Given the description of an element on the screen output the (x, y) to click on. 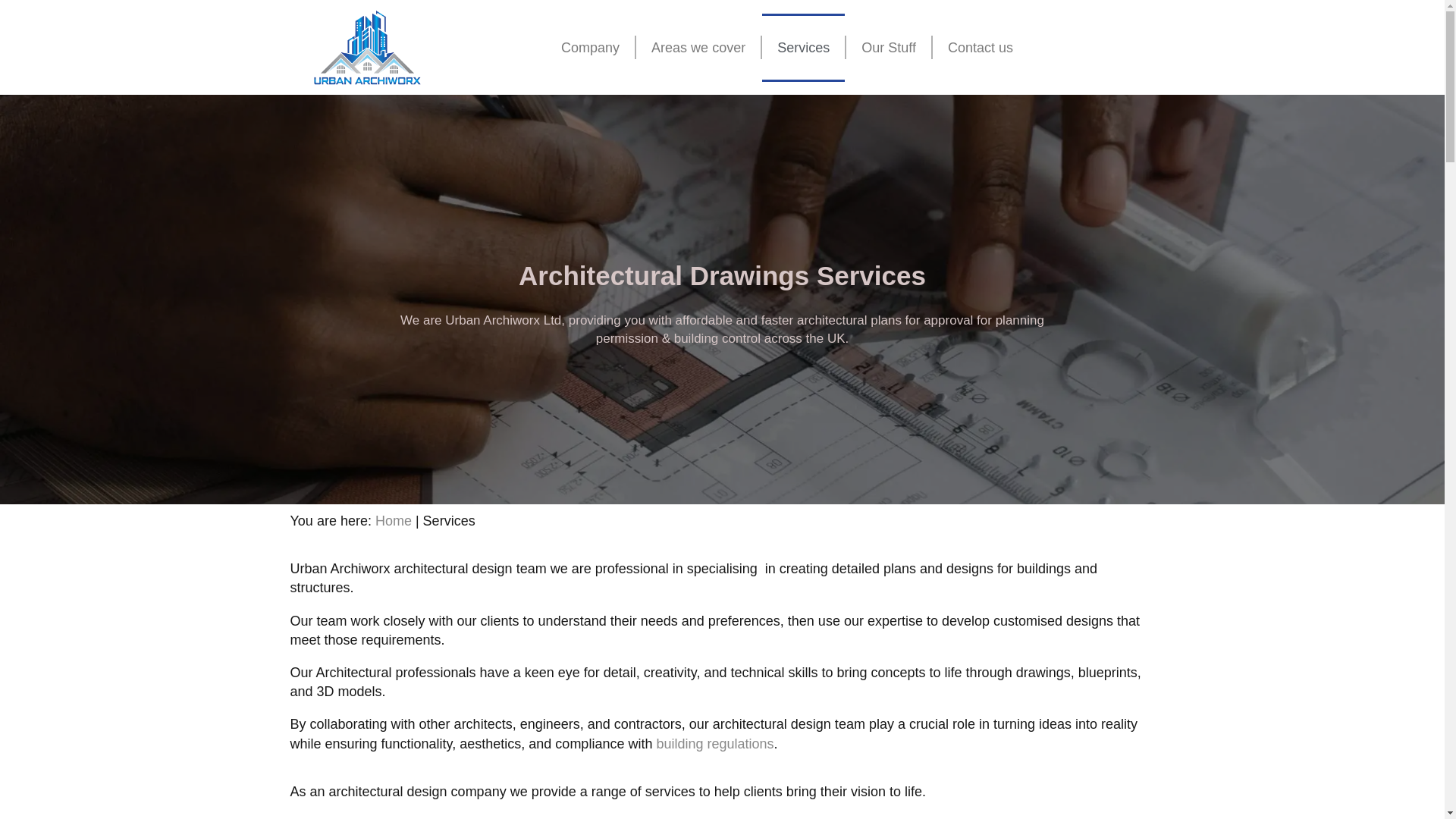
Company (590, 47)
Our Stuff (888, 47)
building regulations (714, 743)
Services (802, 47)
Areas we cover (698, 47)
Home (393, 520)
Contact us (980, 47)
